Given the description of an element on the screen output the (x, y) to click on. 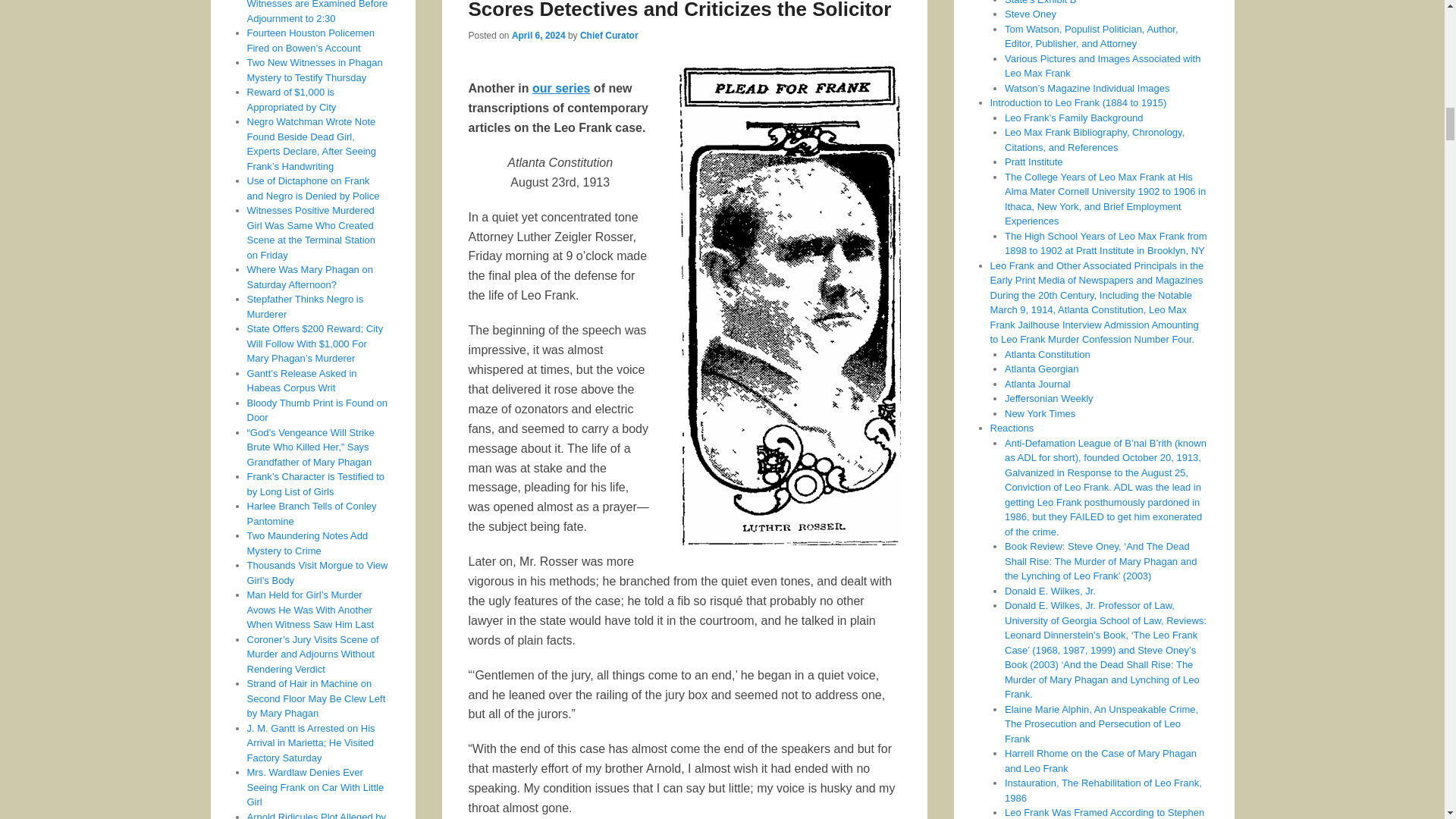
11:32 PM (539, 35)
View all posts by Chief Curator (609, 35)
